Given the description of an element on the screen output the (x, y) to click on. 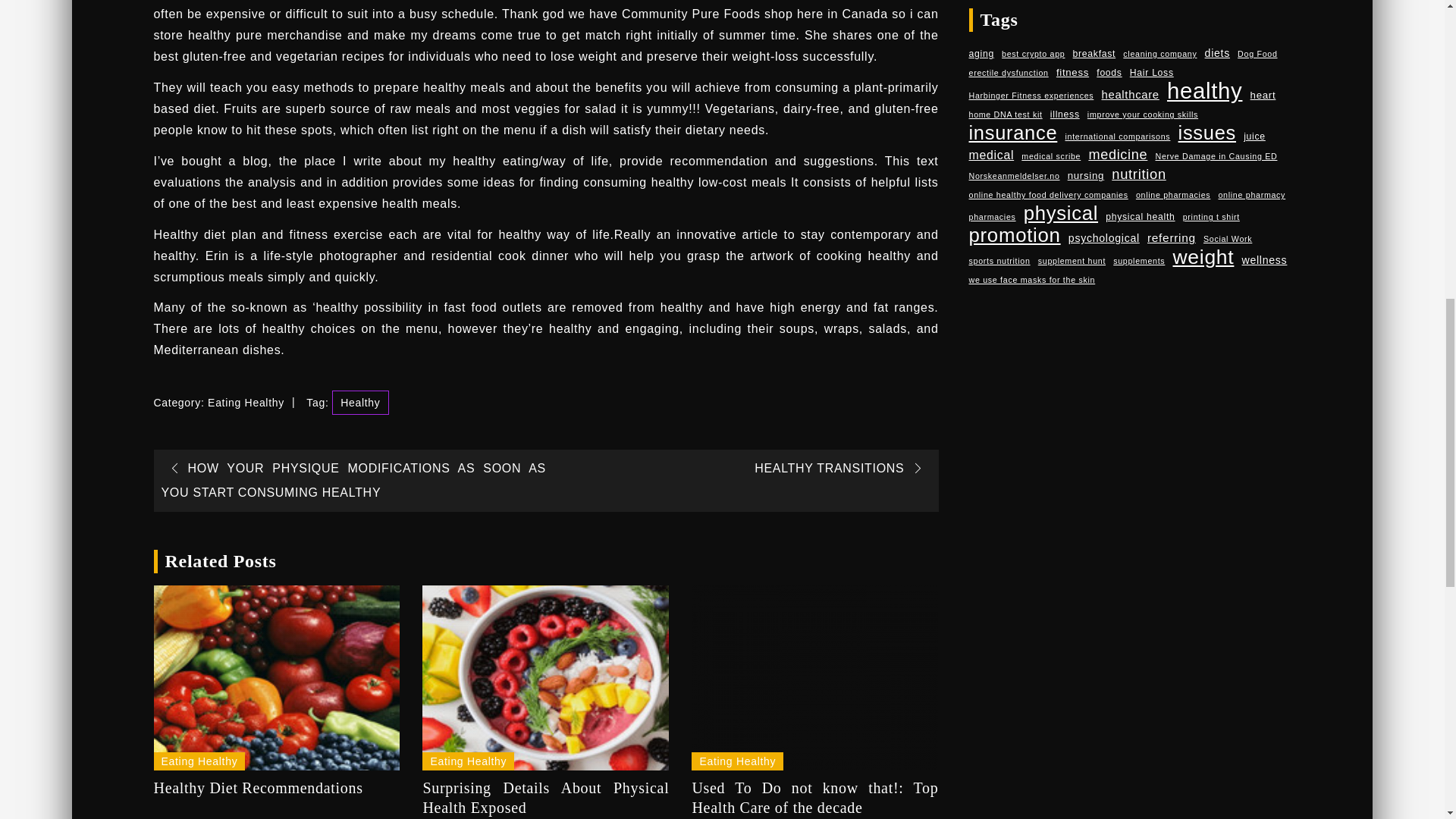
Eating Healthy (245, 402)
Healthy (359, 402)
Healthy Diet Recommendations (275, 677)
Used To Do not know that!: Top Health Care of the decade (814, 677)
Surprising Details About Physical Health Exposed (545, 677)
